Given the description of an element on the screen output the (x, y) to click on. 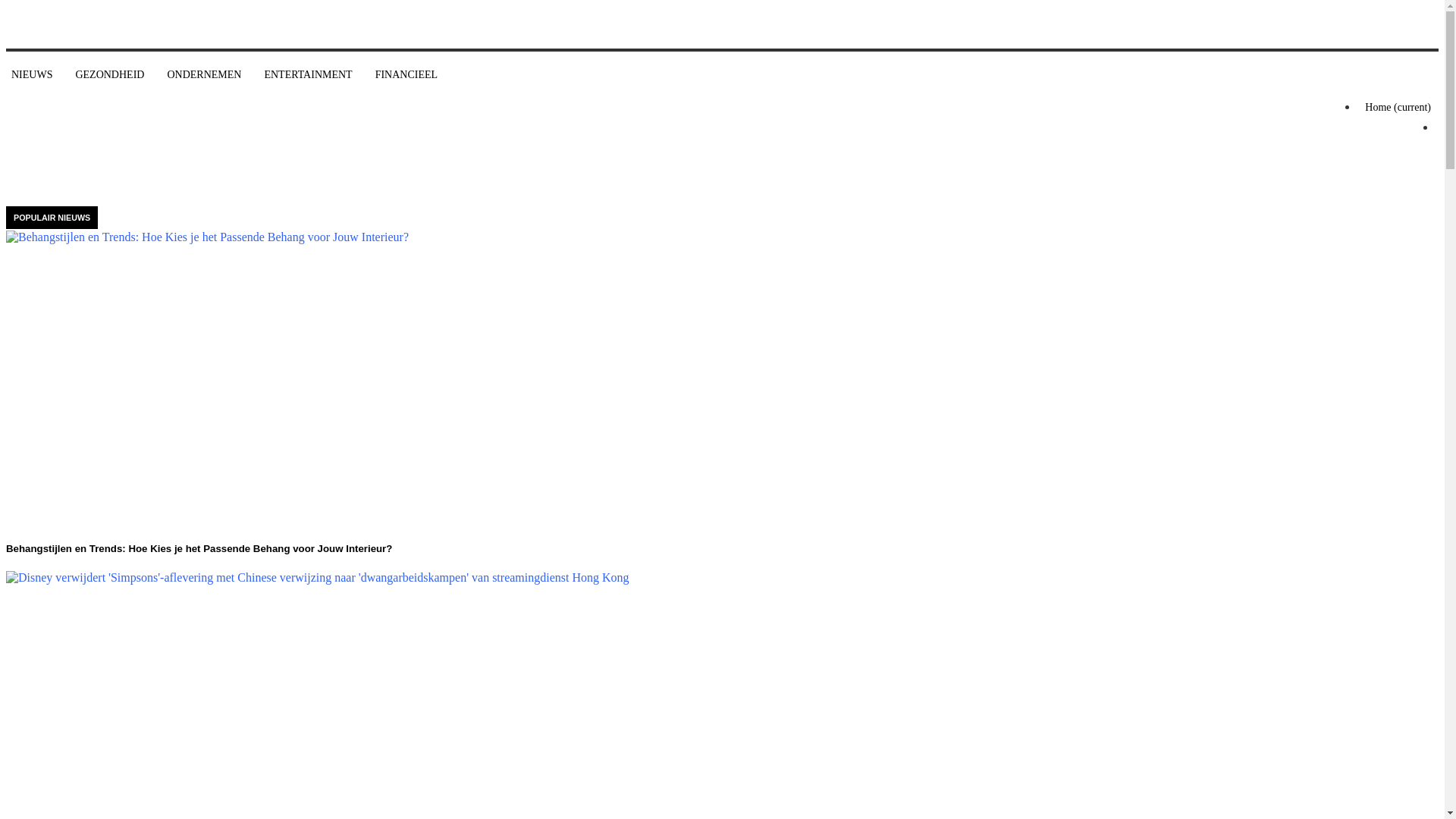
FINANCIEEL Element type: text (406, 74)
DE BLOG Element type: text (68, 71)
ENTERTAINMENT Element type: text (307, 74)
NIEUWS Element type: text (31, 74)
Home (current) Element type: text (1397, 106)
GEZONDHEID Element type: text (109, 74)
ONDERNEMEN Element type: text (203, 74)
